Given the description of an element on the screen output the (x, y) to click on. 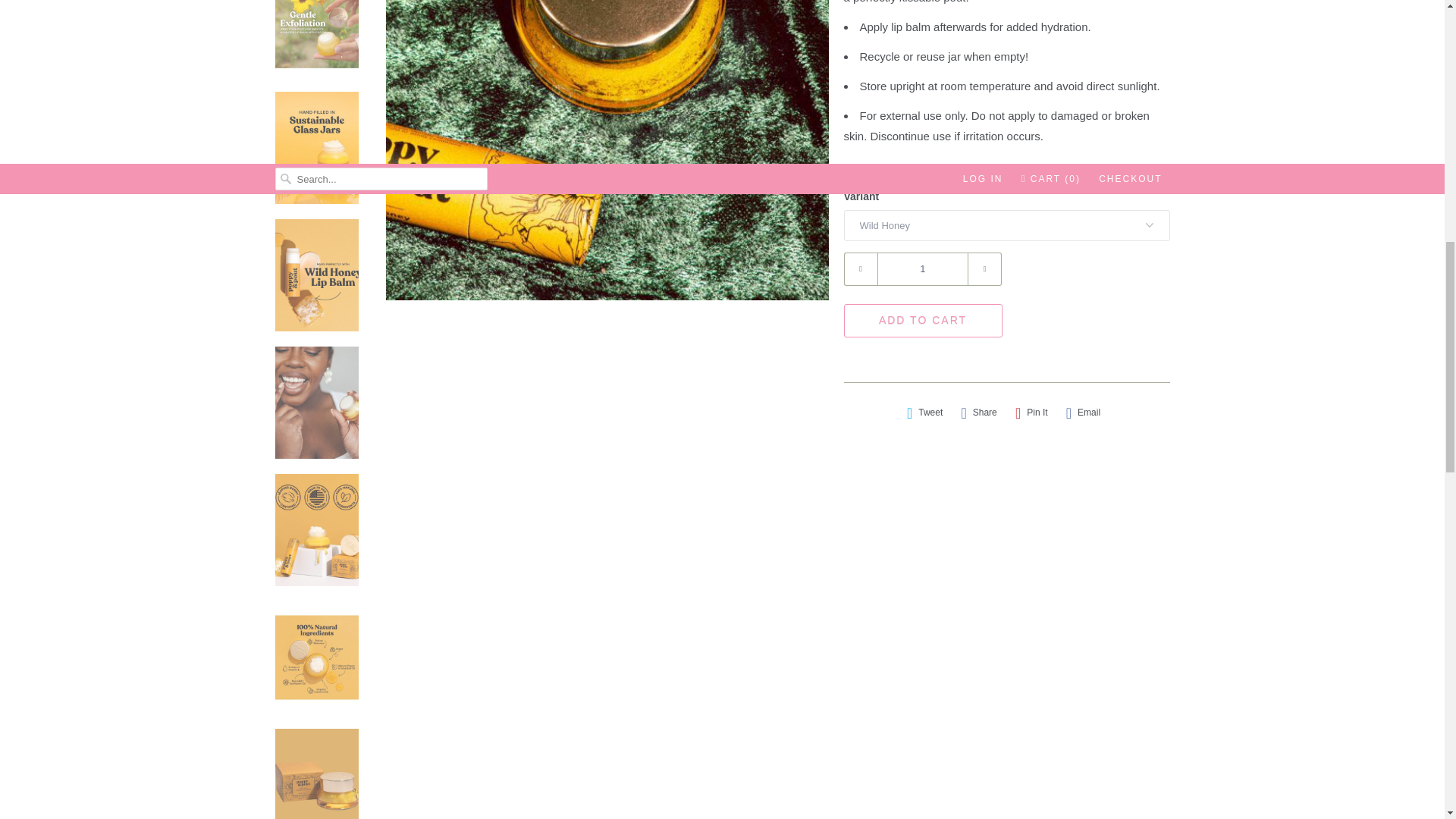
Email this to a friend (1083, 412)
1 (922, 268)
Share this on Pinterest (1031, 412)
Share this on Facebook (978, 412)
Share this on Twitter (924, 412)
